Given the description of an element on the screen output the (x, y) to click on. 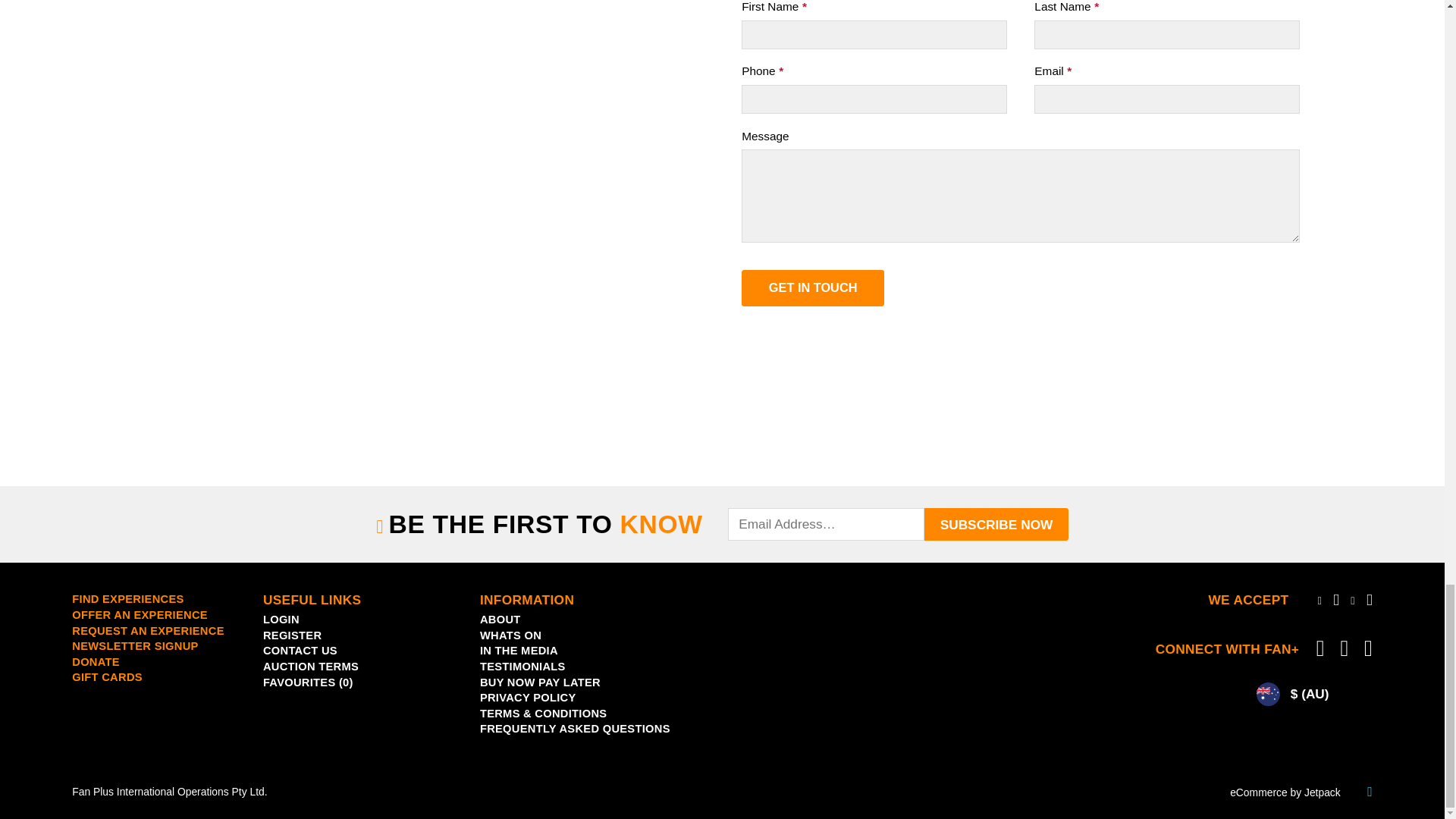
GET IN TOUCH (812, 288)
SUBSCRIBE NOW (995, 523)
